Given the description of an element on the screen output the (x, y) to click on. 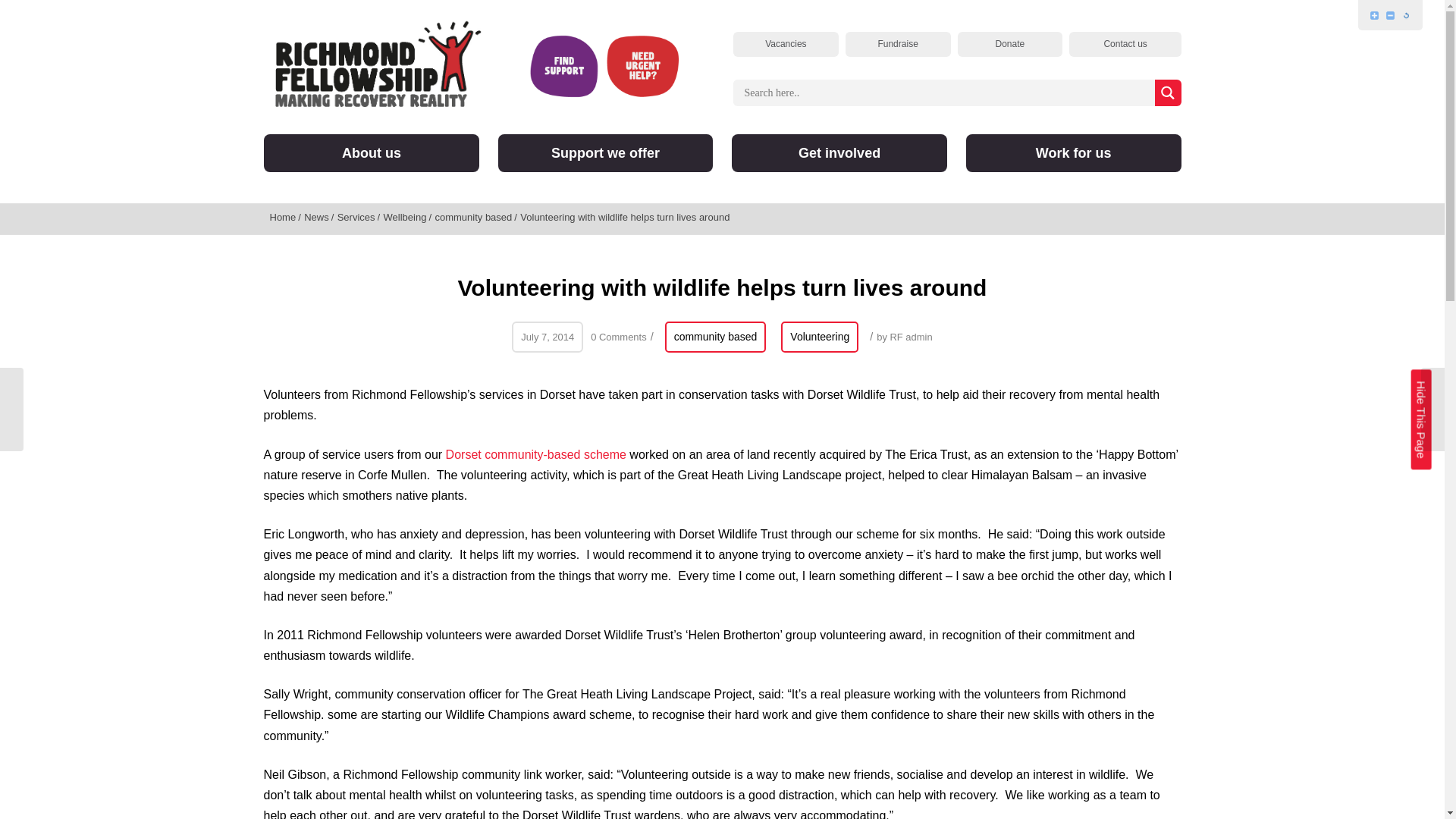
Posts by RF admin (910, 337)
Support we offer (605, 152)
Work for us (1073, 152)
East Dorset Community Service (535, 454)
News (317, 216)
Donate (1009, 43)
Vacancies (785, 43)
About us (371, 152)
Richmond Fellowship (378, 62)
Get involved (839, 152)
Contact us (1124, 43)
Fundraise (897, 43)
